Given the description of an element on the screen output the (x, y) to click on. 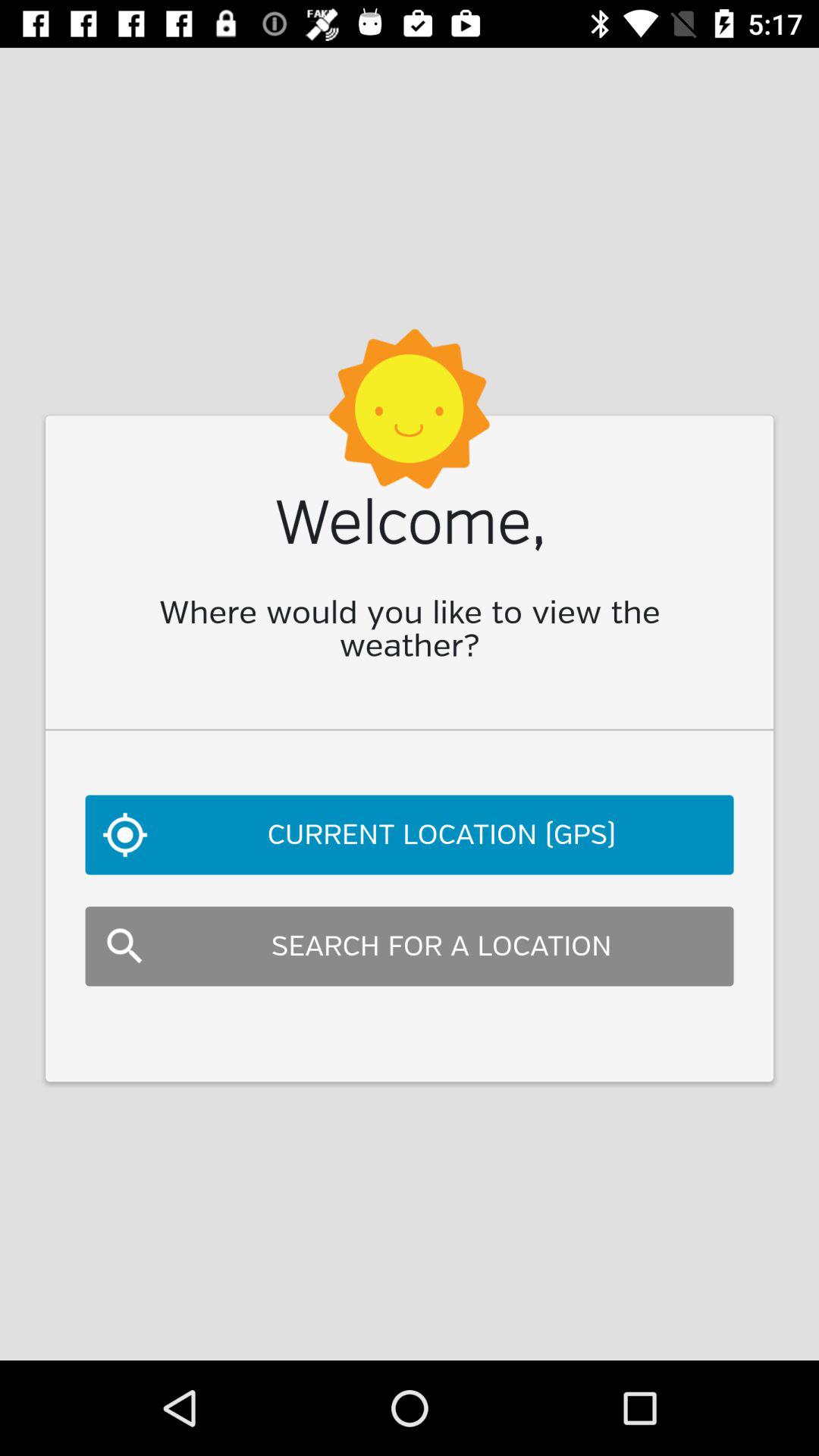
flip to current location (gps) item (409, 834)
